Given the description of an element on the screen output the (x, y) to click on. 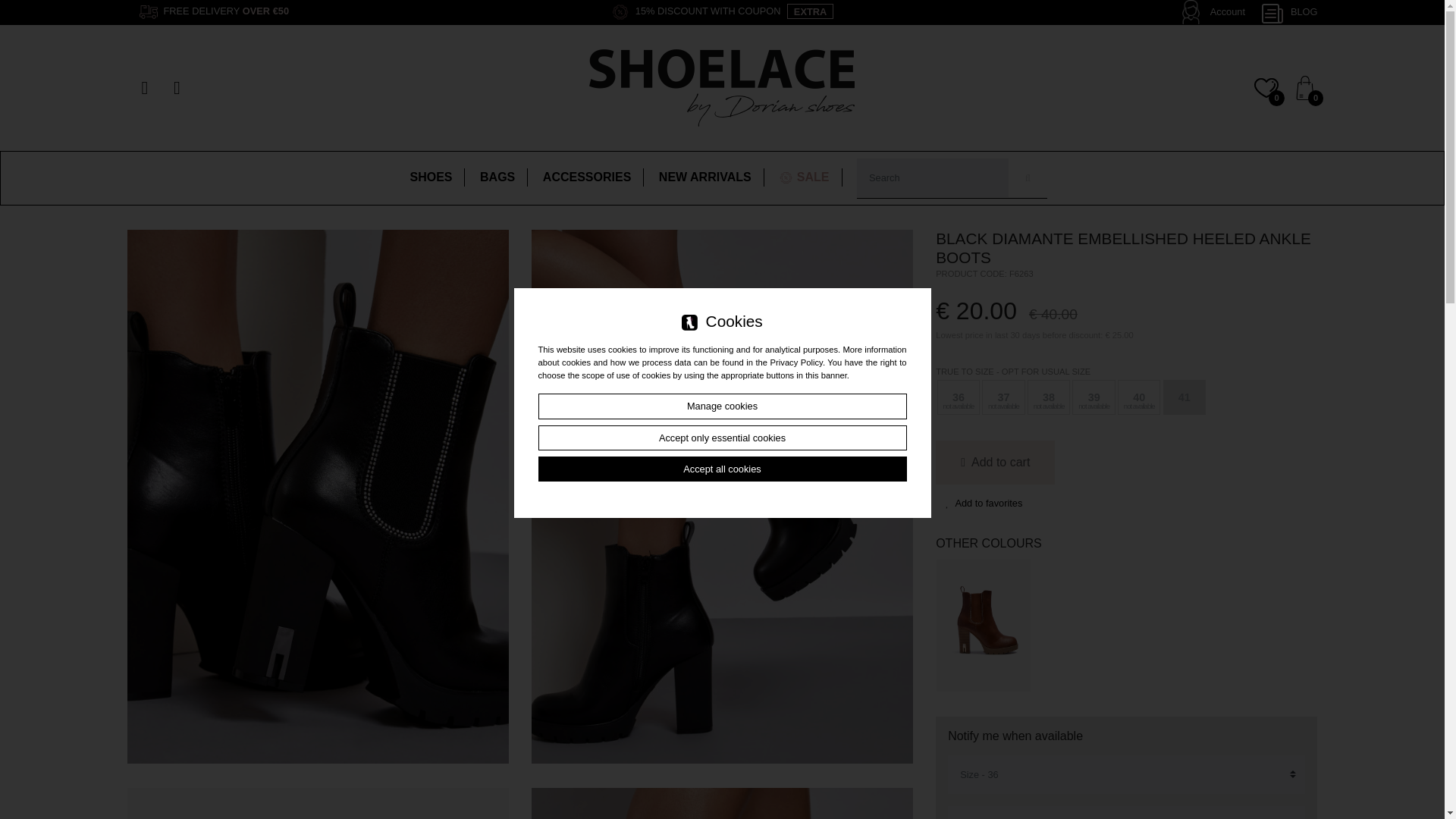
Account (1226, 11)
 Sale (804, 177)
NEW ARRIVALS (704, 177)
BLOG (1288, 12)
SHOES (430, 177)
New arrivals (704, 177)
BAGS (497, 177)
ACCESSORIES (587, 177)
SALE (804, 177)
